Given the description of an element on the screen output the (x, y) to click on. 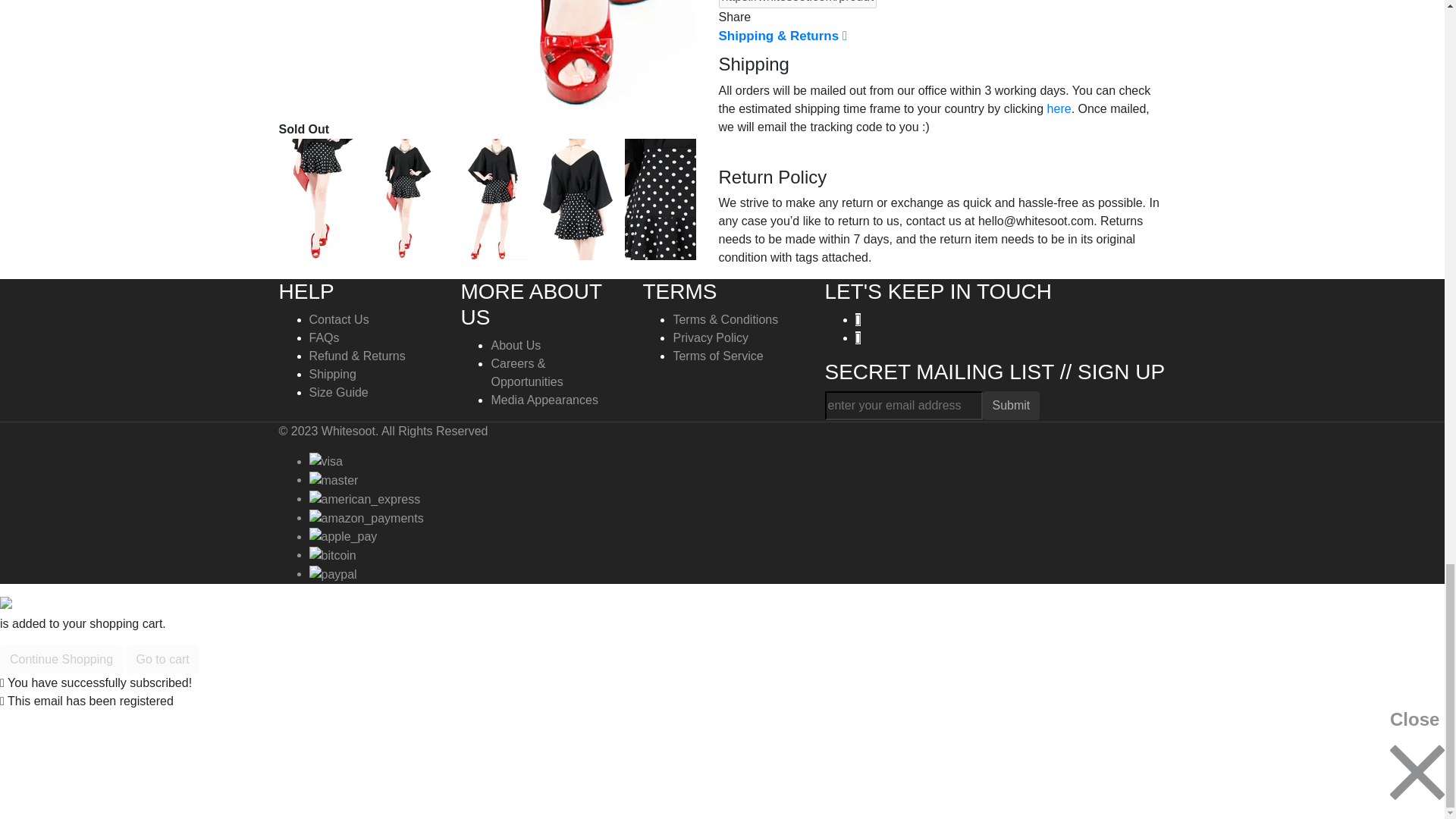
FAQs (323, 337)
Submit (1011, 405)
Shipping (332, 373)
Contact Us (338, 318)
